Given the description of an element on the screen output the (x, y) to click on. 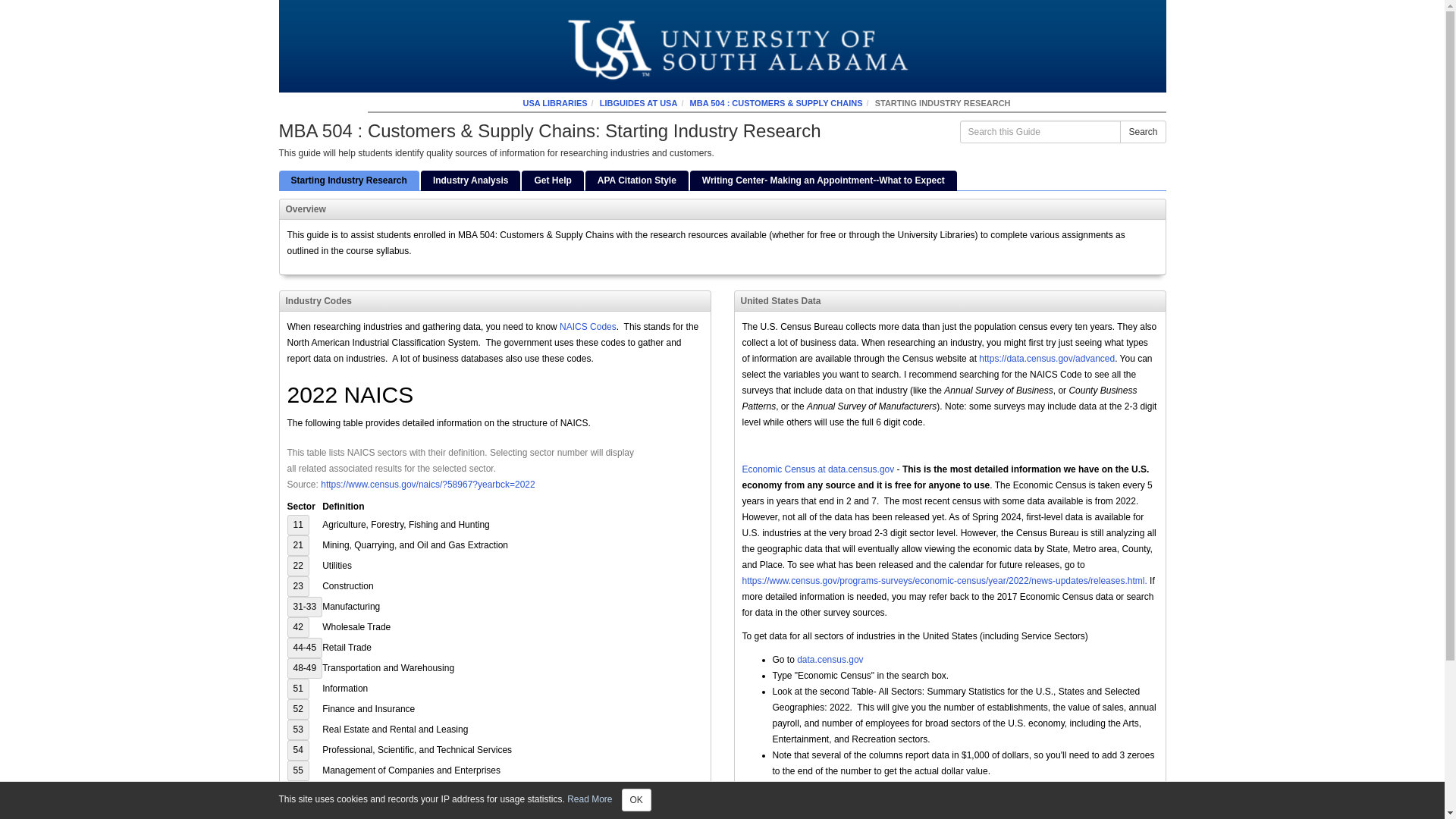
Search (1142, 131)
USA LIBRARIES (554, 102)
61 (297, 810)
Starting Industry Research (349, 180)
Read More (589, 798)
Display details for sector 22 (297, 566)
NAICS Codes (587, 326)
Get Help (552, 180)
42 (297, 627)
OK (635, 799)
